Given the description of an element on the screen output the (x, y) to click on. 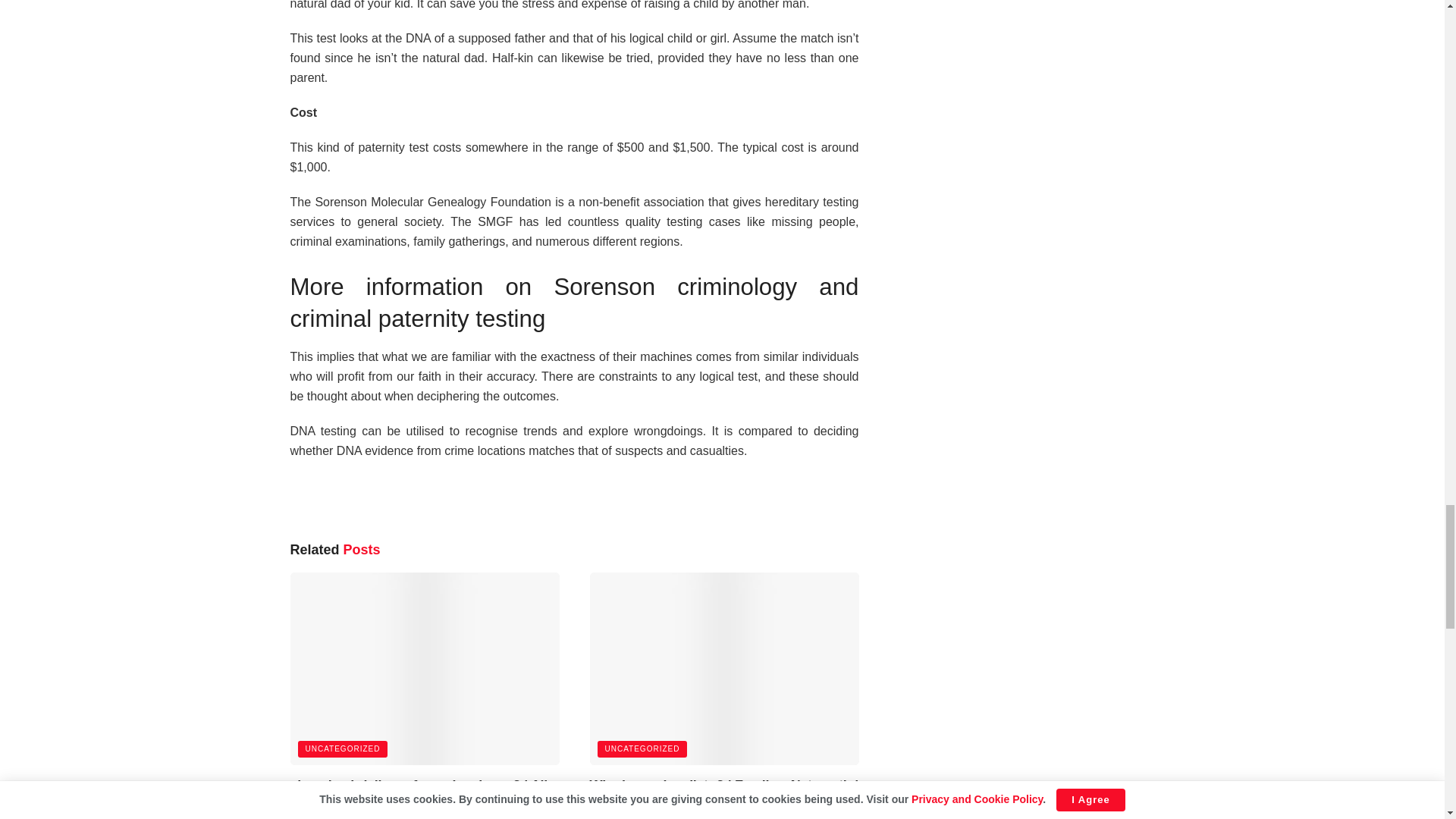
UNCATEGORIZED (342, 749)
UNCATEGORIZED (641, 749)
